Given the description of an element on the screen output the (x, y) to click on. 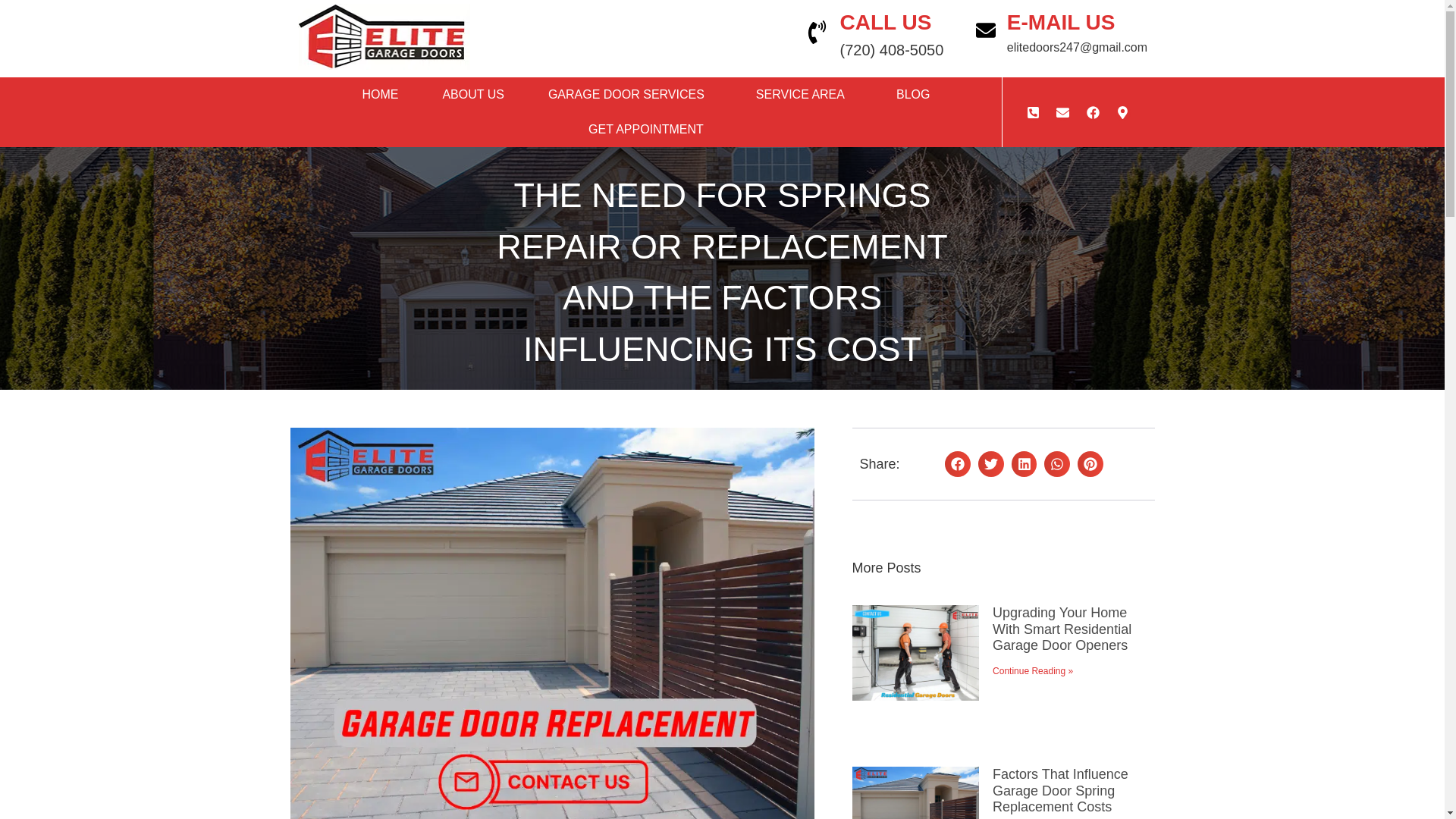
CALL US (885, 22)
ABOUT US (472, 94)
GET APPOINTMENT (645, 129)
SERVICE AREA (804, 94)
GARAGE DOOR SERVICES (629, 94)
E-MAIL US (1061, 22)
BLOG (913, 94)
HOME (379, 94)
